Given the description of an element on the screen output the (x, y) to click on. 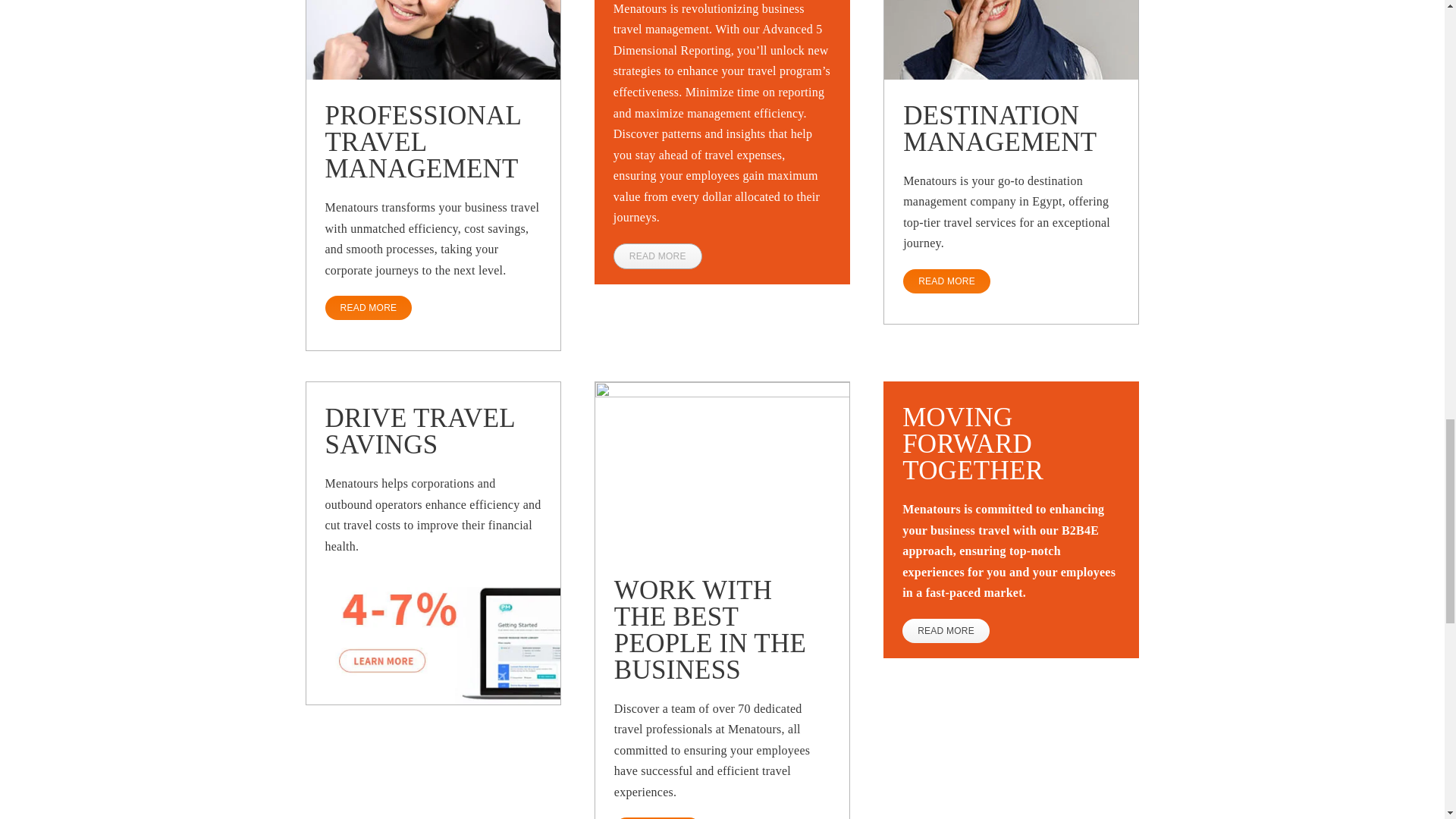
Feature 4 (721, 467)
READ MORE (946, 281)
READ MORE (368, 307)
Feature 5 (1010, 39)
READ MORE (656, 256)
Feature 1 (432, 39)
